Given the description of an element on the screen output the (x, y) to click on. 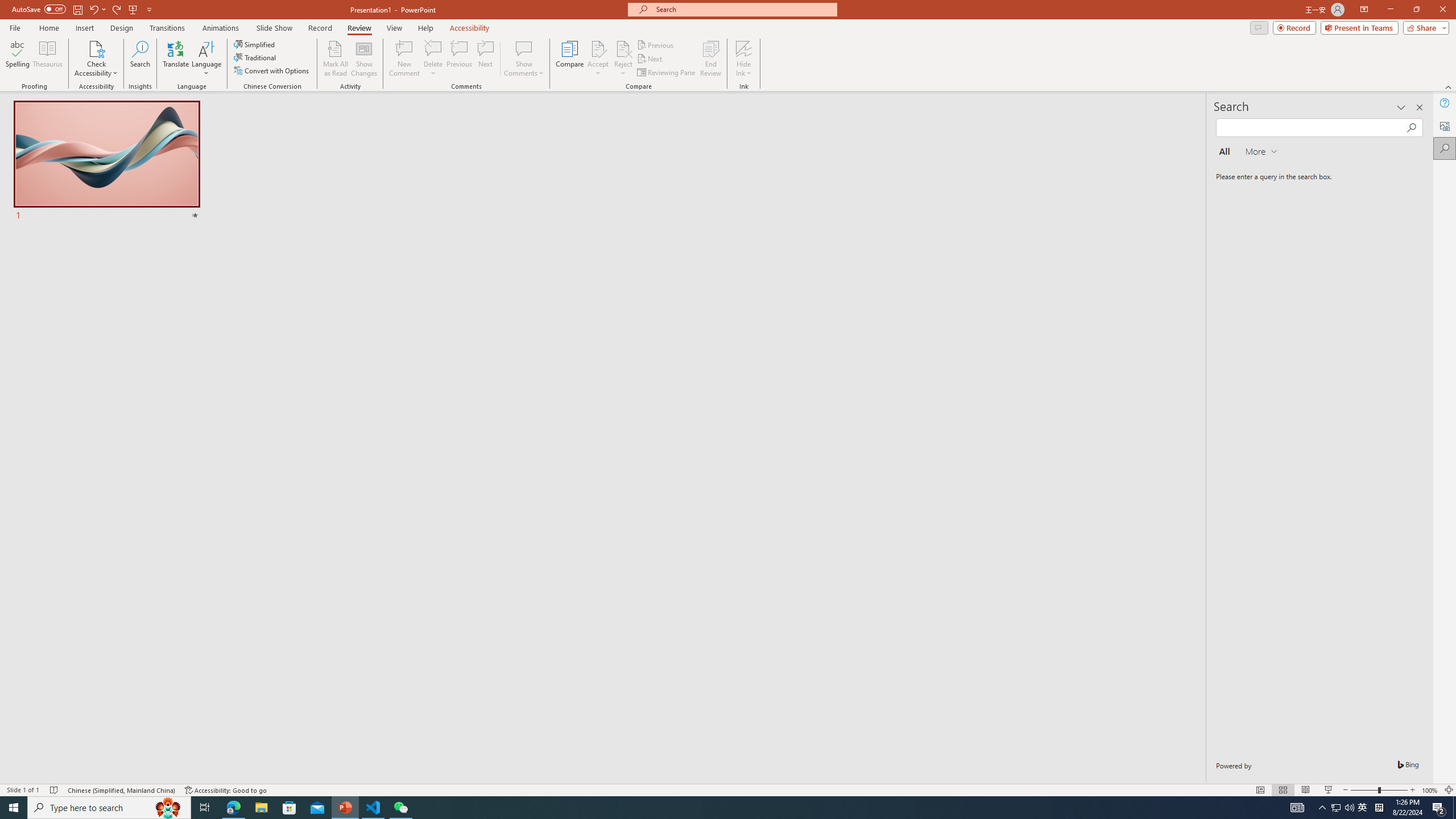
Compare (569, 58)
Traditional (255, 56)
Translate (175, 58)
